Given the description of an element on the screen output the (x, y) to click on. 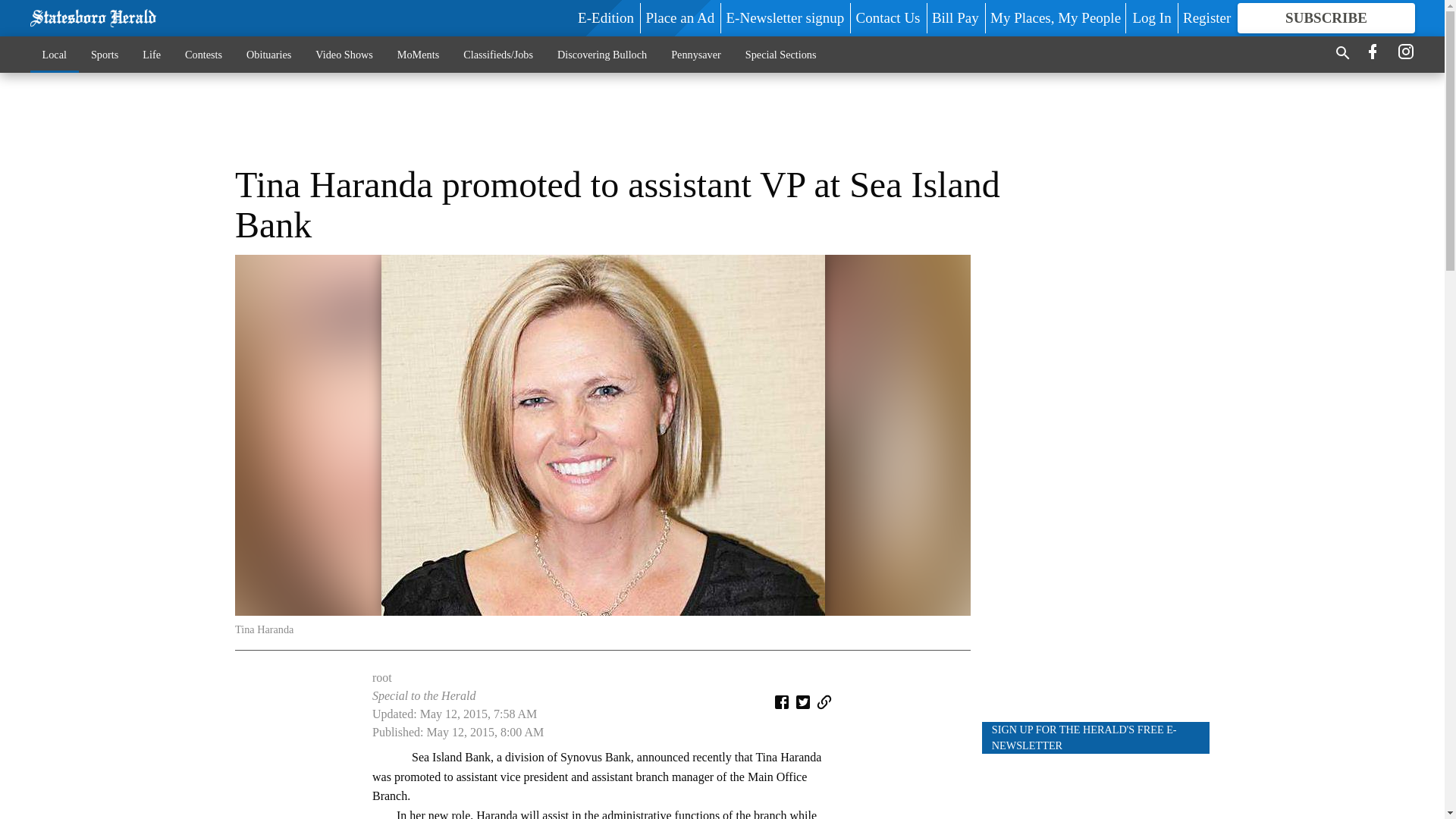
3rd party ad content (721, 119)
Life (152, 54)
MoMents (418, 54)
Place an Ad (679, 17)
Obituaries (268, 54)
My Places, My People (1055, 17)
E-Newsletter signup (785, 17)
Signup Widget Embed (1095, 786)
Contact Us (888, 17)
Register (1206, 17)
